Given the description of an element on the screen output the (x, y) to click on. 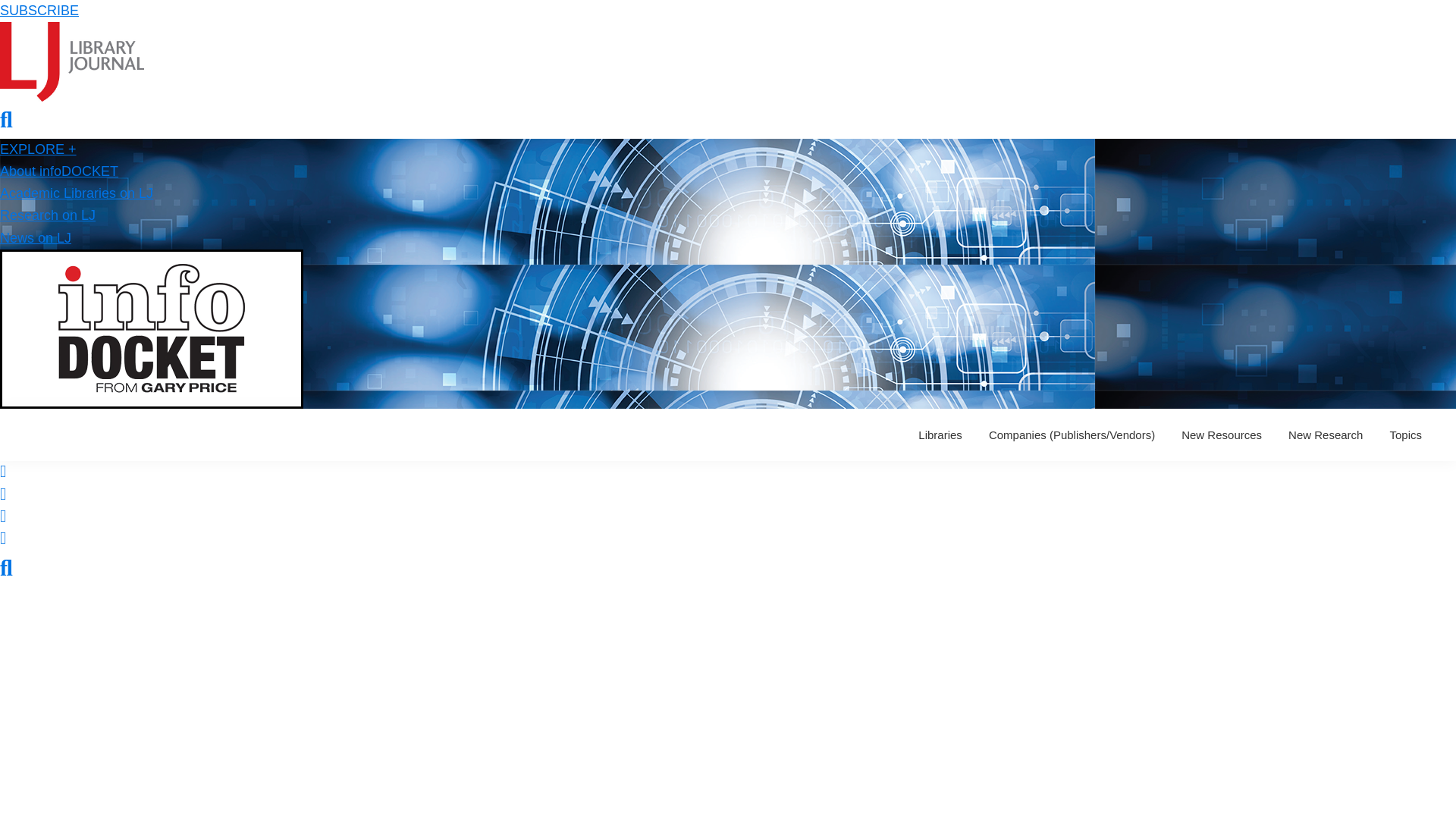
SUBSCRIBE (39, 10)
New Research (1325, 434)
News on LJ (35, 237)
About infoDOCKET (58, 171)
Research on LJ (48, 215)
Libraries (940, 434)
Academic Libraries on LJ (76, 192)
New Resources (1221, 434)
